Given the description of an element on the screen output the (x, y) to click on. 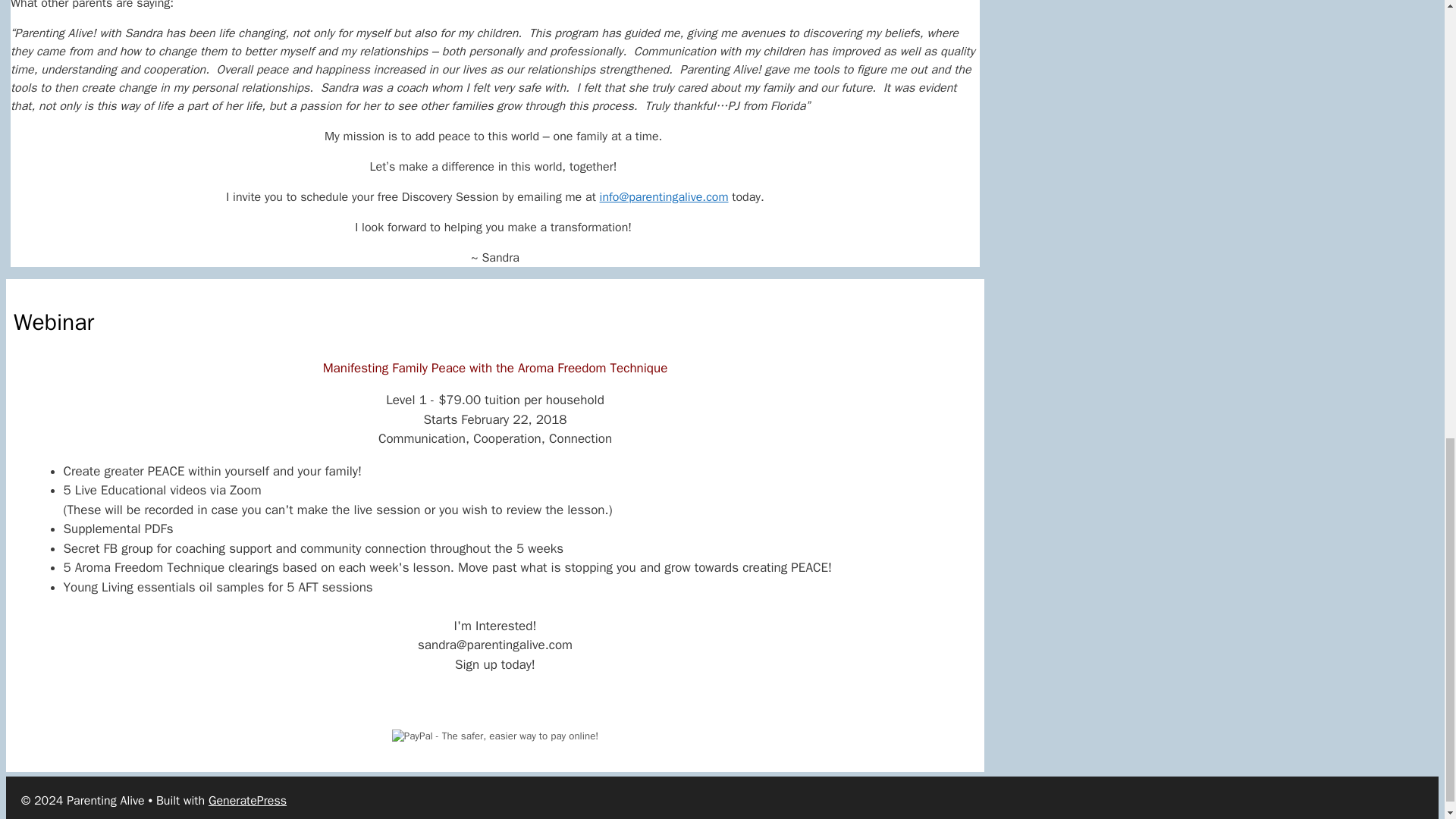
GeneratePress (247, 800)
